Given the description of an element on the screen output the (x, y) to click on. 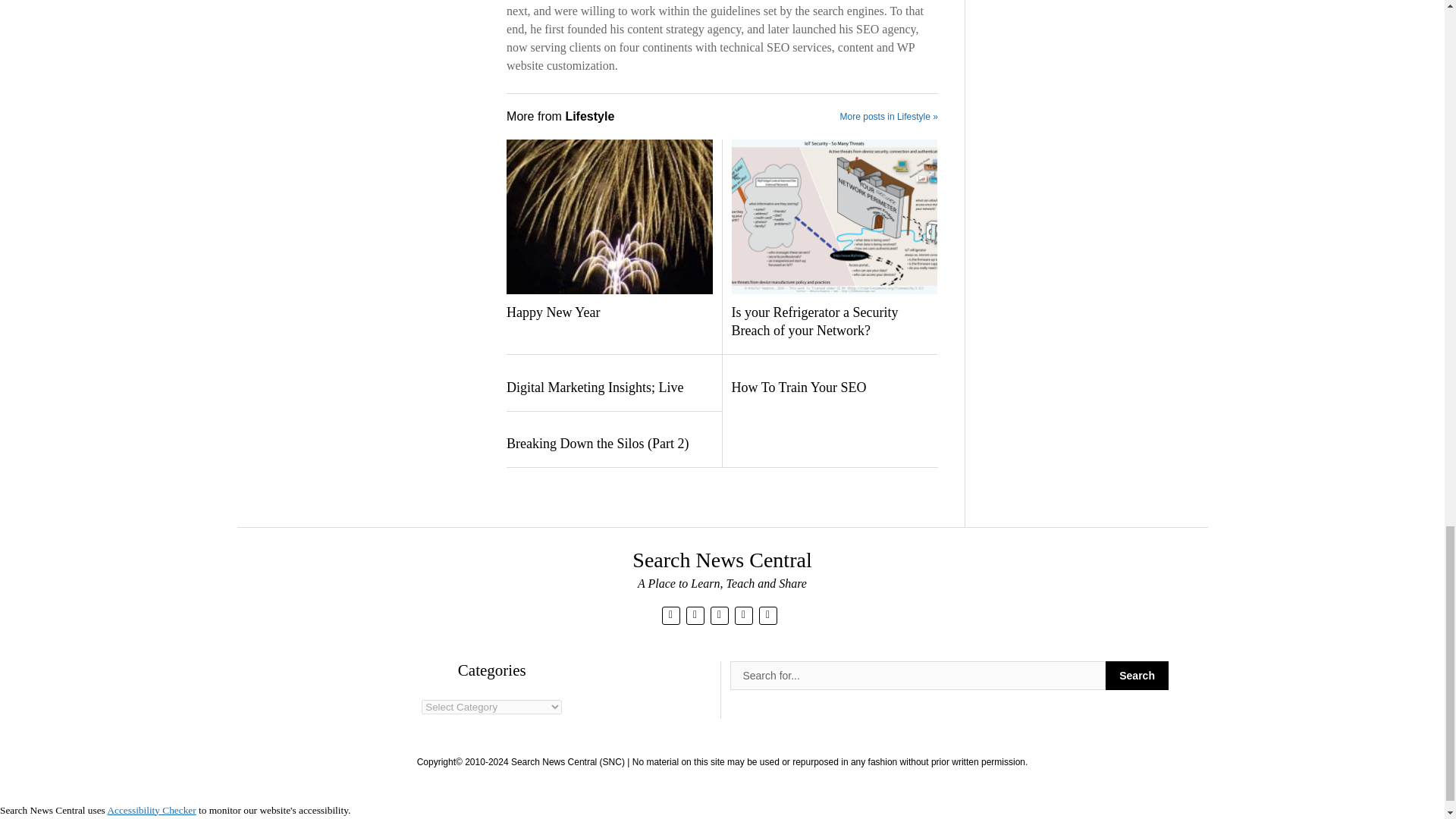
Search (1137, 675)
Digital Marketing Insights; Live (608, 388)
Is your Refrigerator a Security Breach of your Network? (833, 321)
Search (1137, 675)
Search News Central (720, 559)
Happy New Year (608, 312)
How To Train Your SEO (833, 388)
